Given the description of an element on the screen output the (x, y) to click on. 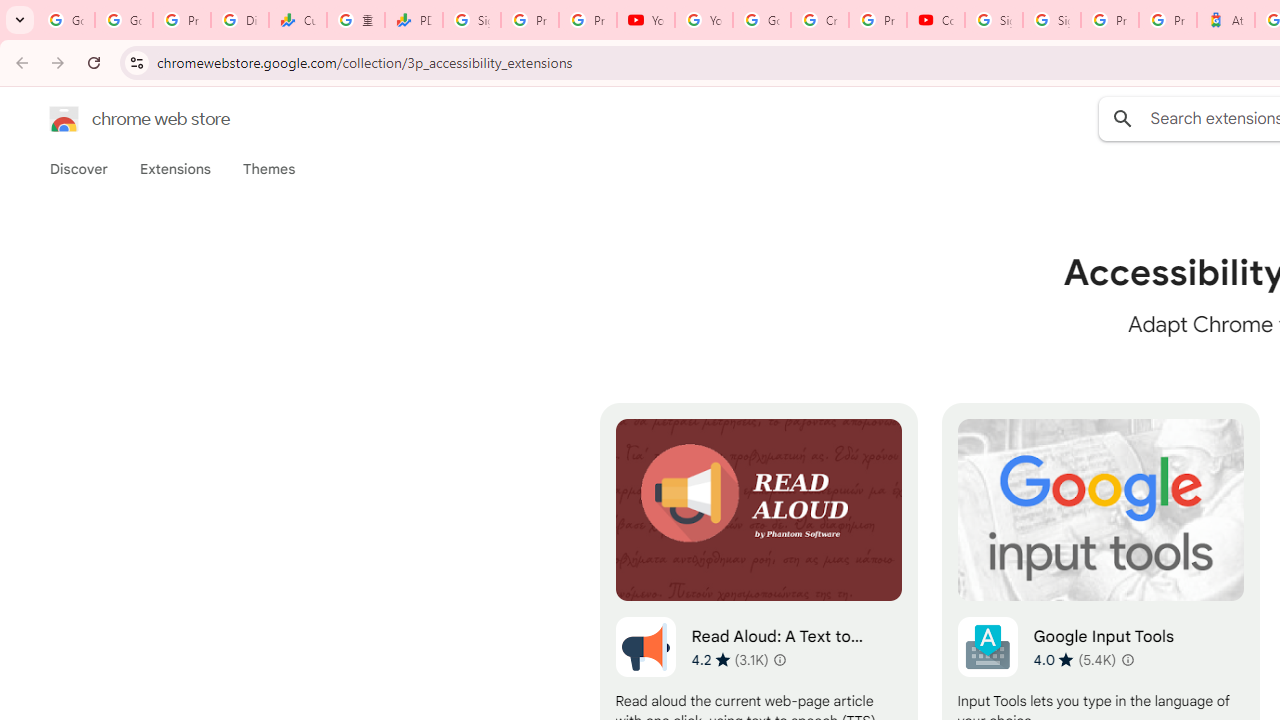
Chrome Web Store logo (63, 118)
Currencies - Google Finance (297, 20)
Learn more about results and reviews "Google Input Tools" (1127, 659)
Chrome Web Store logo chrome web store (118, 118)
Extensions (174, 169)
YouTube (703, 20)
Create your Google Account (819, 20)
